Given the description of an element on the screen output the (x, y) to click on. 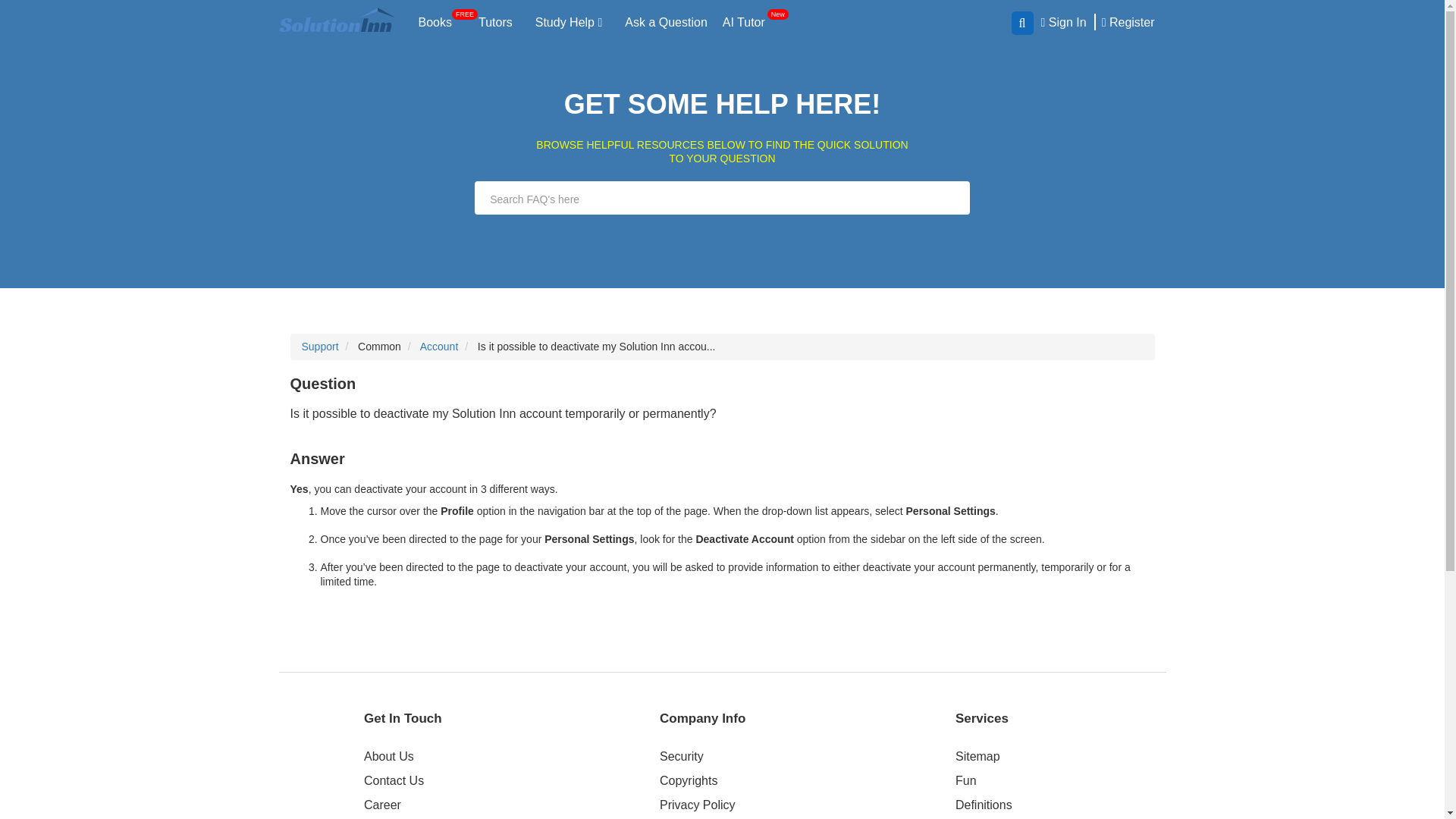
Study Help (435, 22)
Tutors (743, 22)
Ask a Question (568, 22)
Register (494, 22)
Sign In (665, 22)
Ask a Question (1127, 22)
Tutors (1063, 22)
Study Help (743, 22)
